Given the description of an element on the screen output the (x, y) to click on. 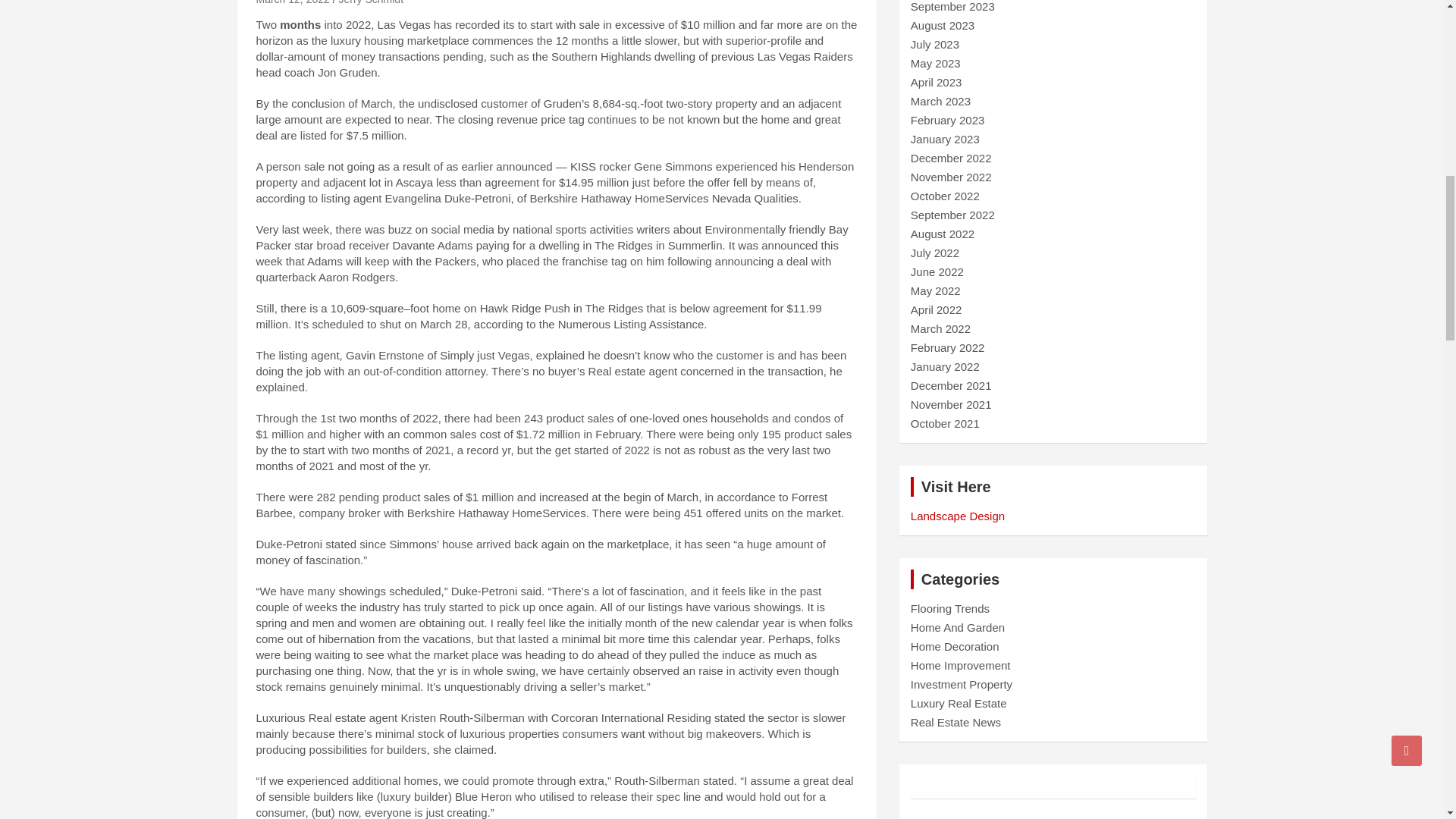
Jerry Schmidt (370, 2)
Vegas luxury draws celebrities, sports figures (293, 2)
September 2023 (952, 6)
March 12, 2022 (293, 2)
August 2023 (942, 24)
